Given the description of an element on the screen output the (x, y) to click on. 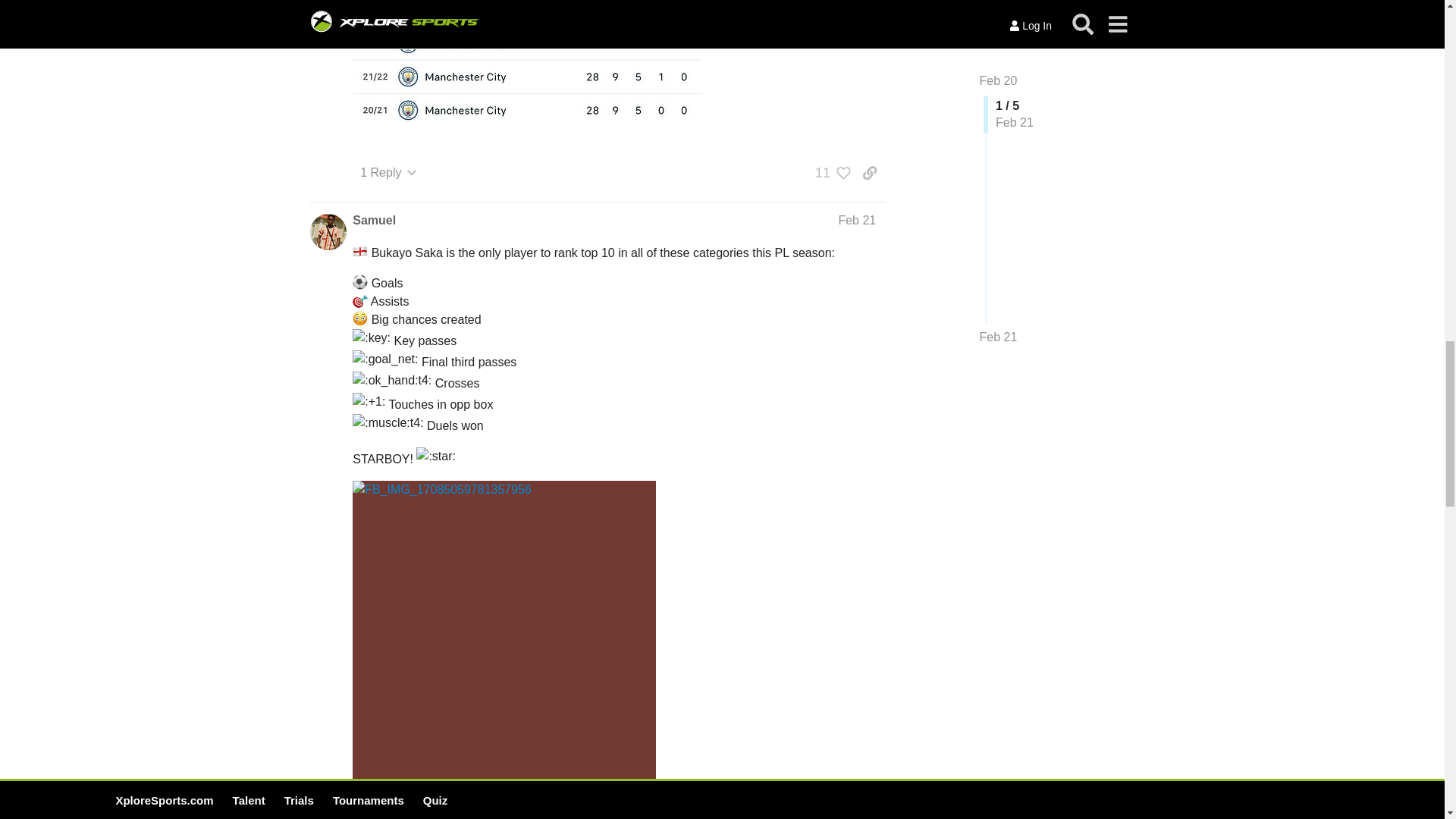
Feb 21 (857, 219)
1 Reply (387, 172)
Samuel (374, 220)
11 (829, 172)
